Given the description of an element on the screen output the (x, y) to click on. 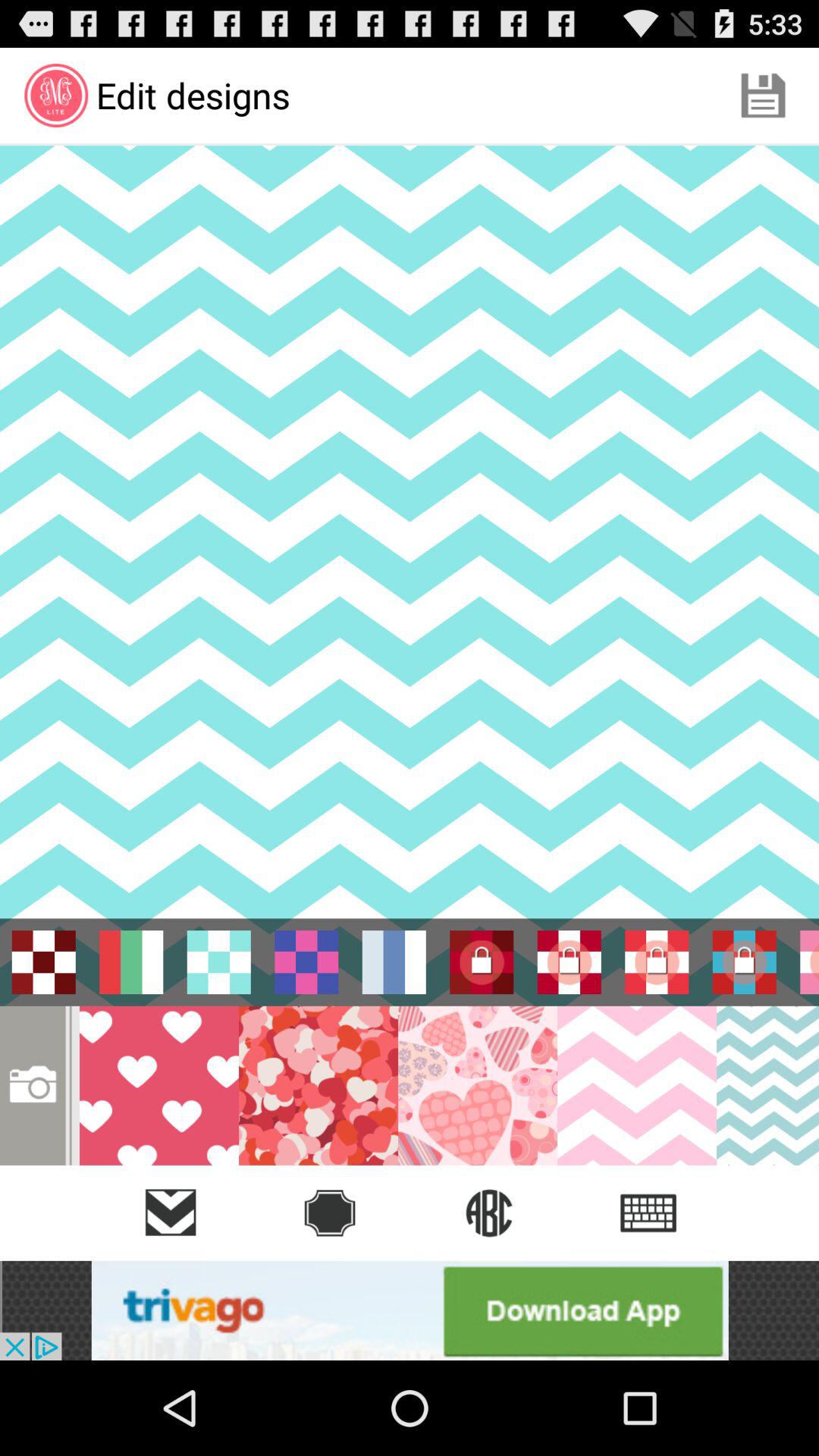
click the app to the right of edit designs app (763, 95)
